Given the description of an element on the screen output the (x, y) to click on. 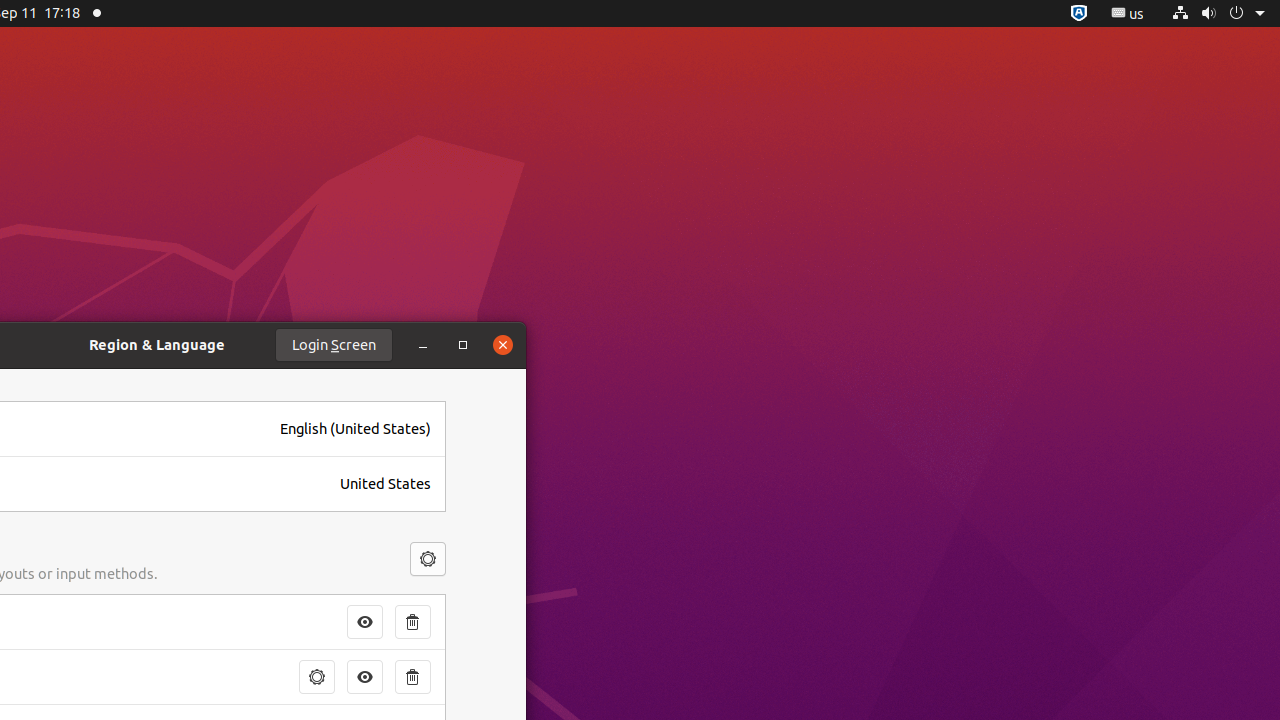
Close Element type: push-button (503, 345)
Menu Element type: toggle-button (428, 559)
:1.72/StatusNotifierItem Element type: menu (1079, 13)
Login Screen Element type: toggle-button (334, 345)
:1.21/StatusNotifierItem Element type: menu (1127, 13)
